Given the description of an element on the screen output the (x, y) to click on. 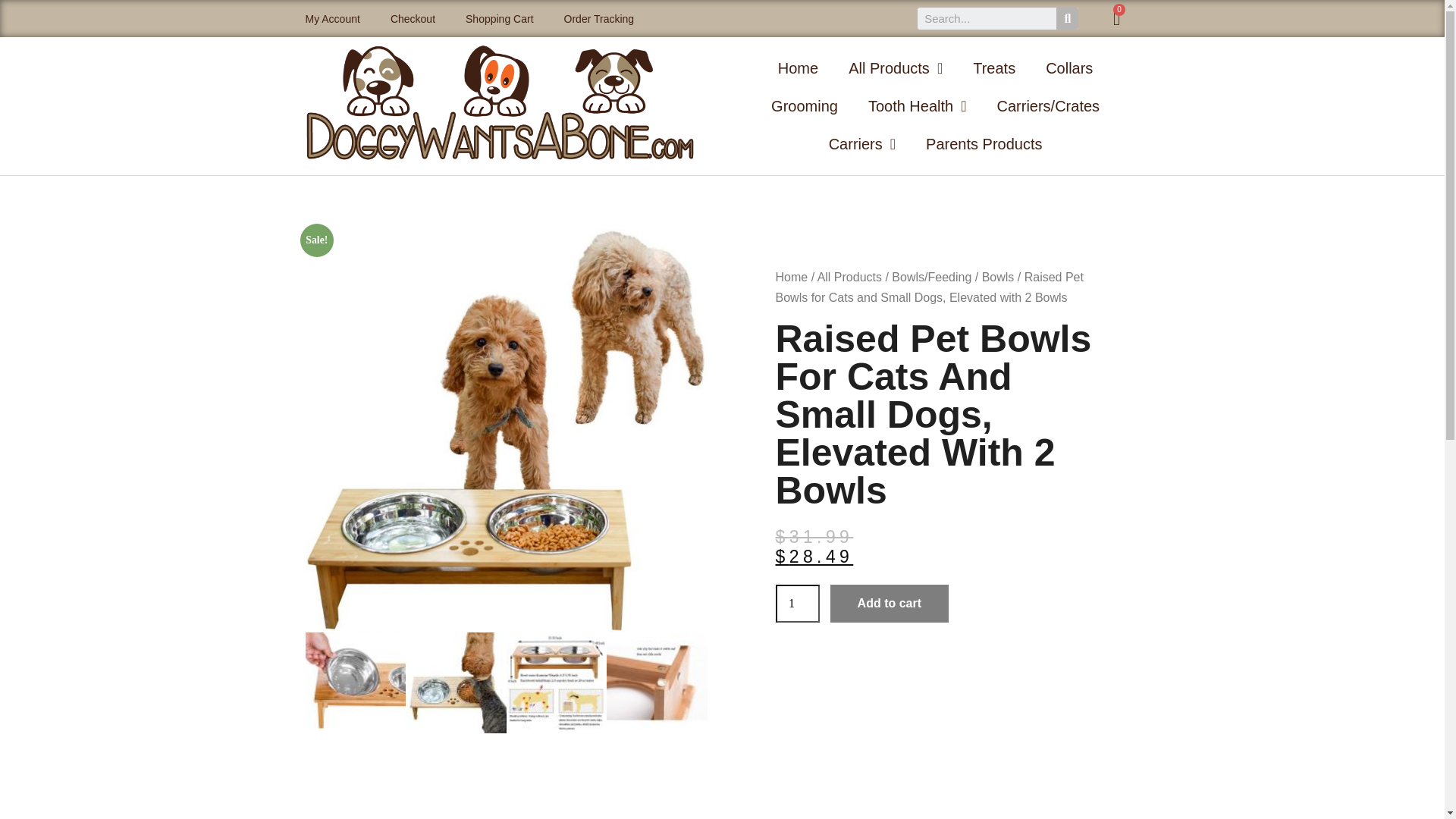
41dMxjpvZ-L.jpg (657, 682)
Parents Products (984, 143)
Qty (796, 603)
Search (987, 18)
Checkout (412, 18)
Collars (1069, 67)
Order Tracking (598, 18)
All Products (895, 67)
My Account (331, 18)
1 (796, 603)
Carriers (862, 143)
Treats (994, 67)
Shopping Cart (498, 18)
51cSCpInN1L.jpg (456, 682)
51gZkAxVTL.jpg (556, 682)
